Given the description of an element on the screen output the (x, y) to click on. 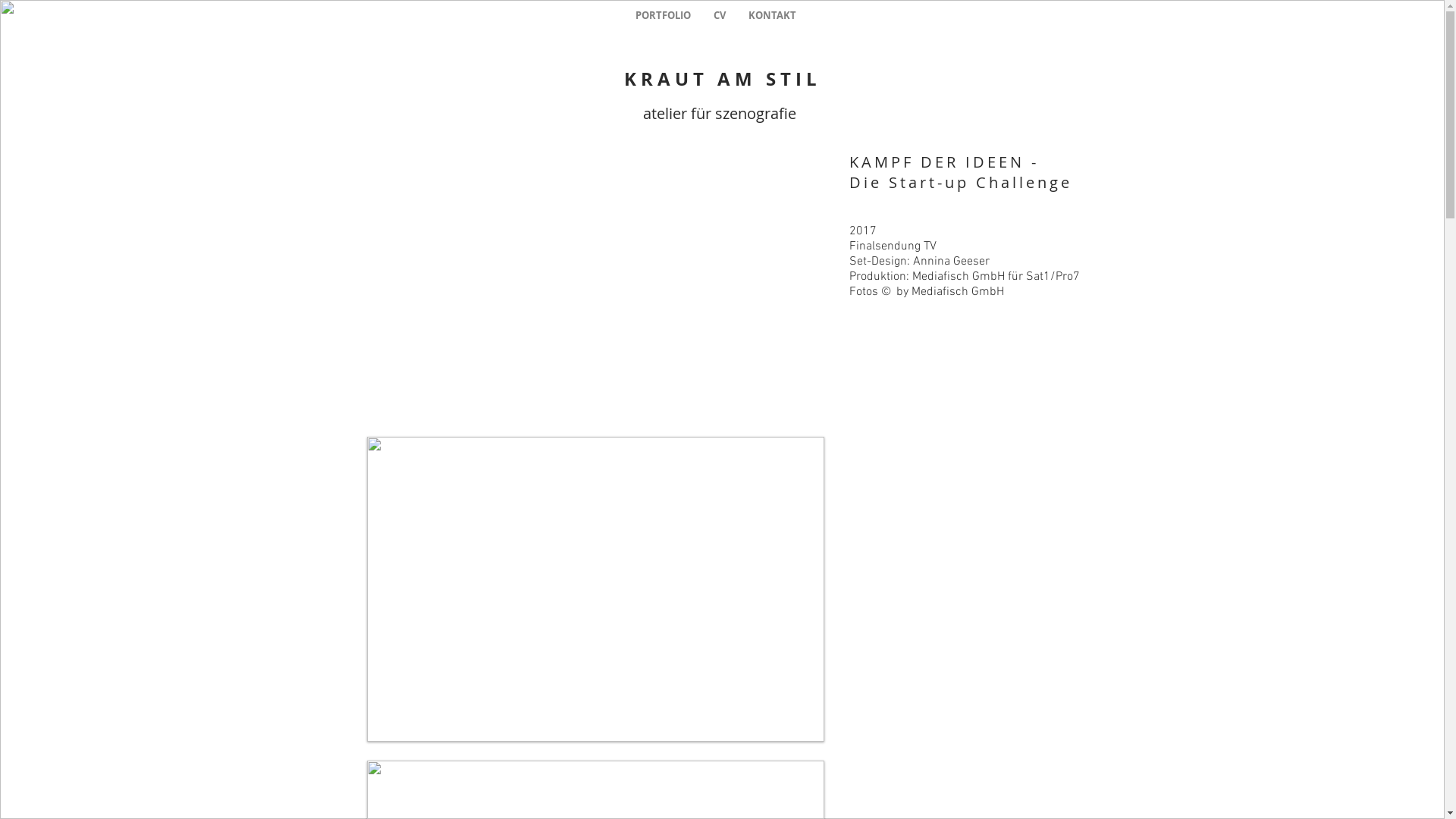
KONTAKT Element type: text (772, 15)
PORTFOLIO Element type: text (662, 15)
CV Element type: text (719, 15)
KRAUT AM STIL Element type: text (721, 78)
External YouTube Element type: hover (594, 288)
